Given the description of an element on the screen output the (x, y) to click on. 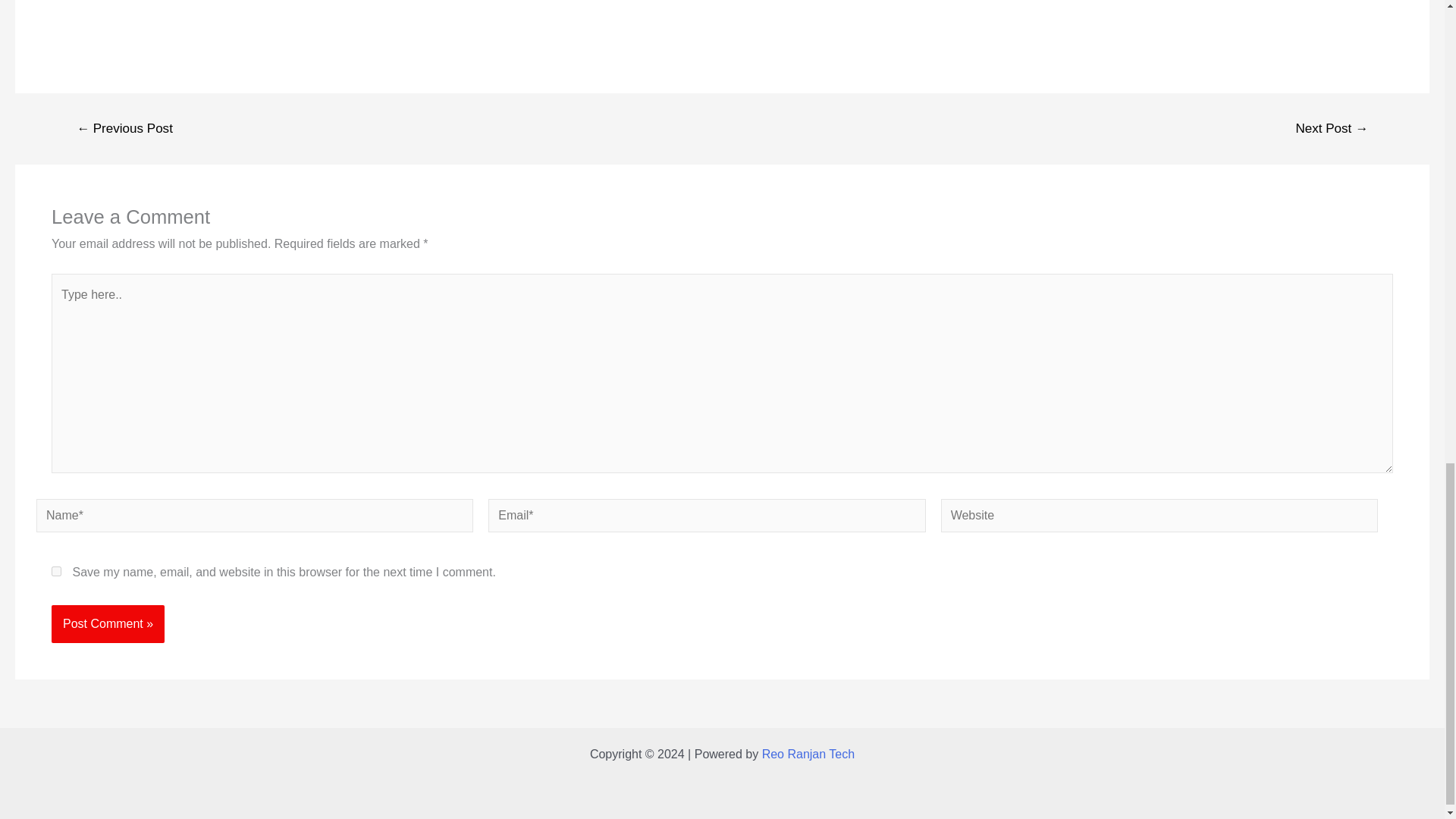
yes (55, 571)
